Given the description of an element on the screen output the (x, y) to click on. 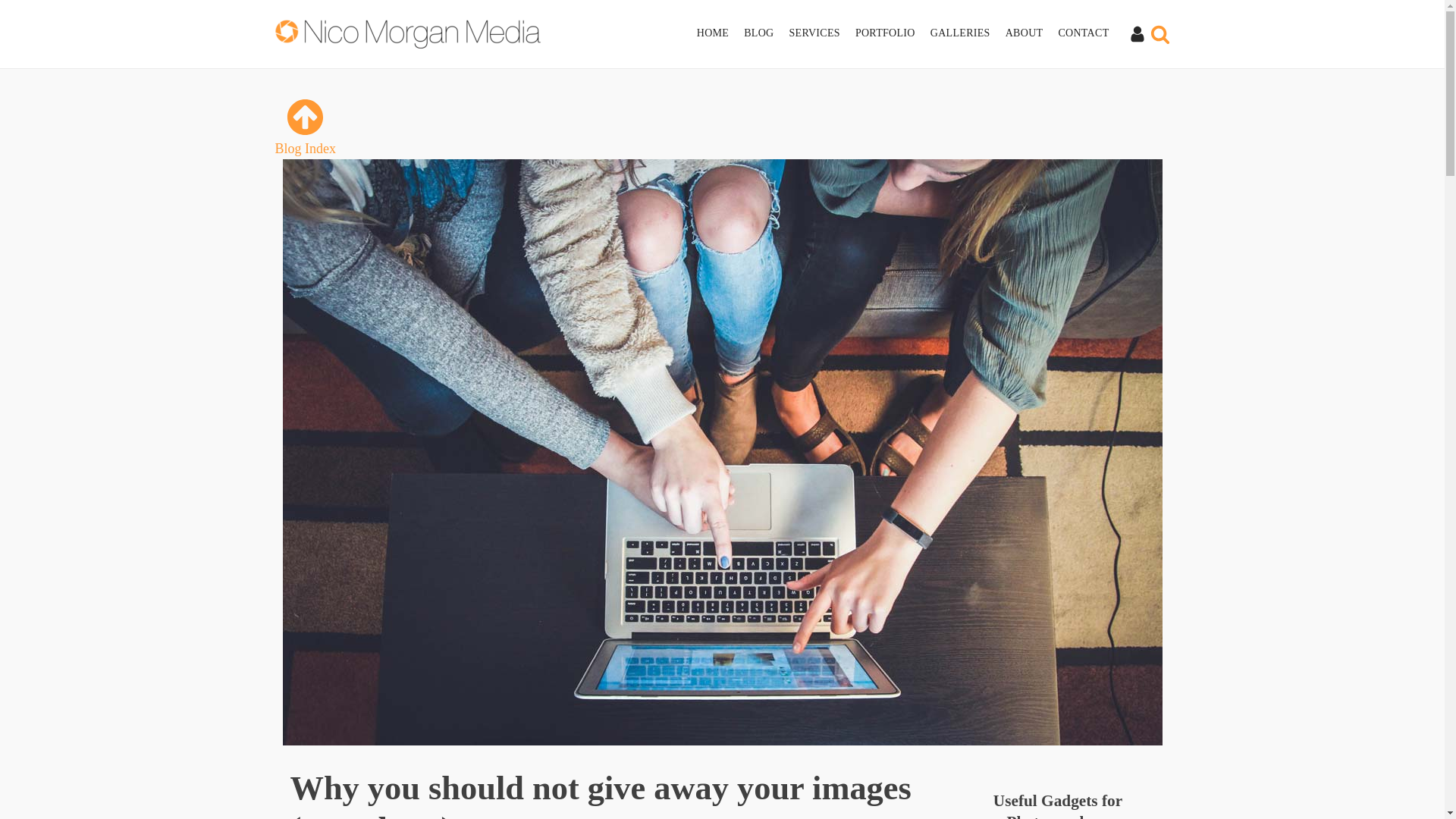
Equestrian Photography Courses Membership (1137, 33)
Search (39, 17)
CONTACT (1091, 33)
SERVICES (821, 33)
Blog Index (305, 127)
Nico Morgan Media Logo (409, 33)
GALLERIES (968, 33)
PORTFOLIO (893, 33)
